Given the description of an element on the screen output the (x, y) to click on. 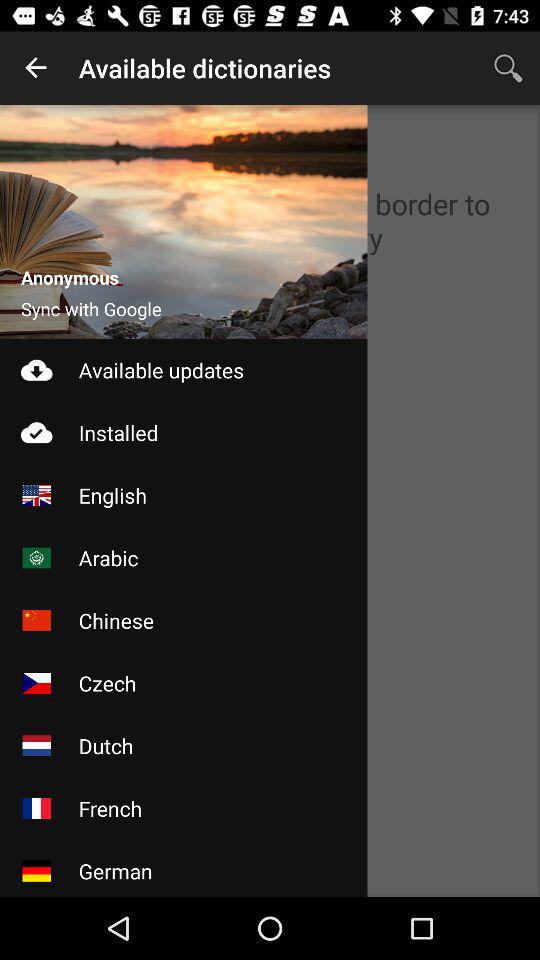
click on sync with google which is below anonymous (91, 308)
click on the search button at the top right corner of the page (508, 68)
